Given the description of an element on the screen output the (x, y) to click on. 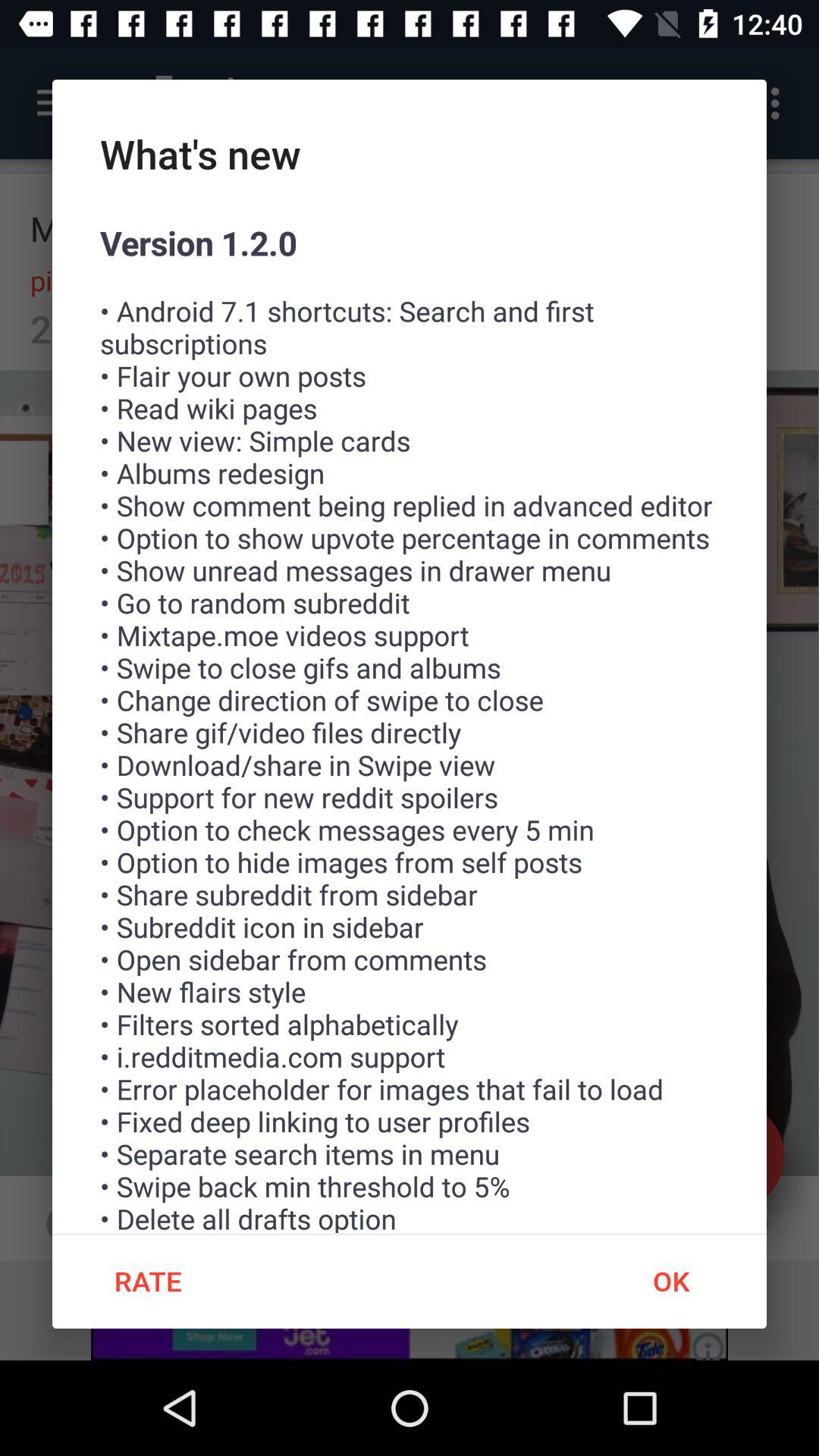
choose icon at the bottom left corner (147, 1280)
